Given the description of an element on the screen output the (x, y) to click on. 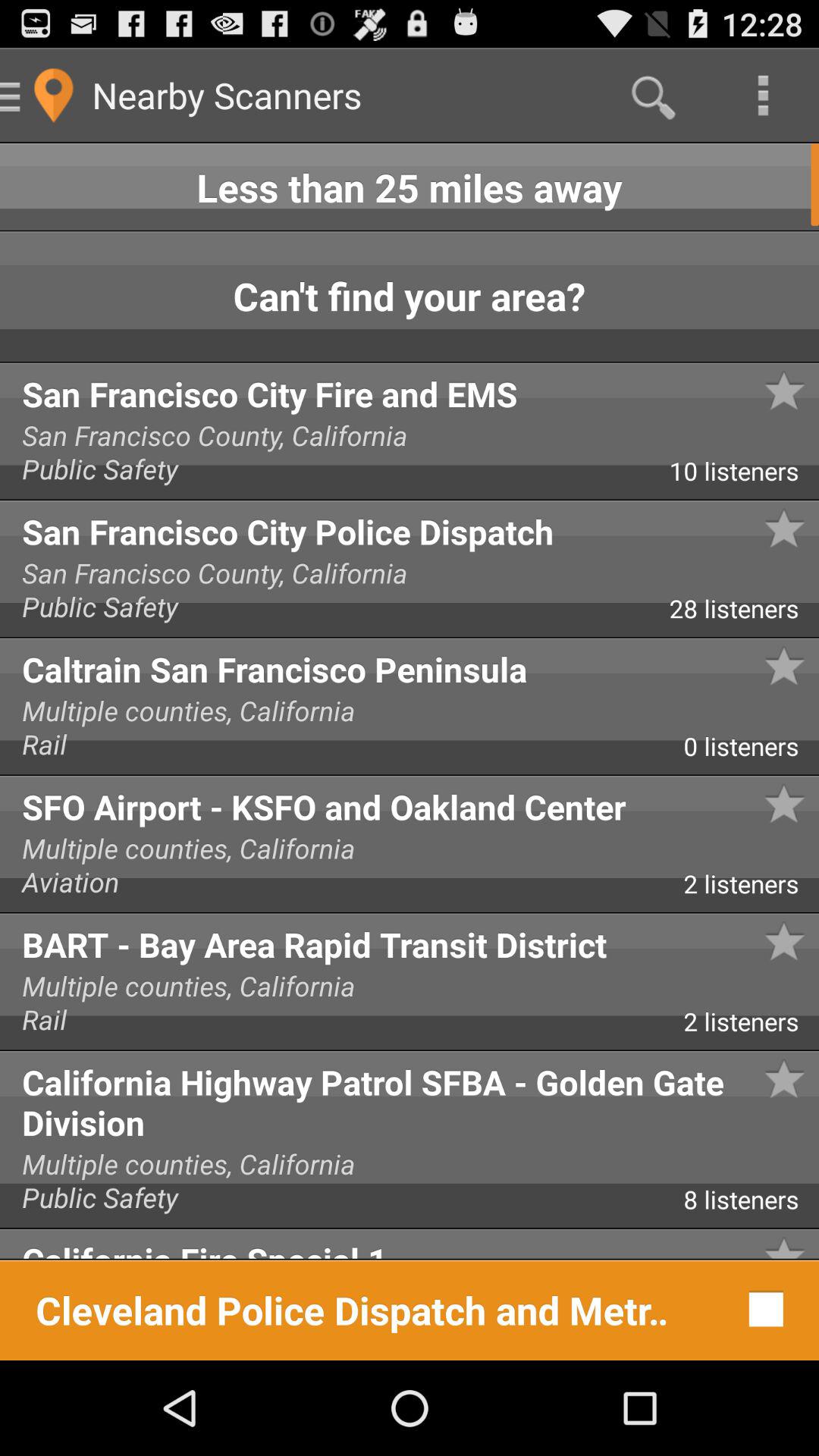
click on the star symbol next to san francisco city police dispatch (784, 390)
